Given the description of an element on the screen output the (x, y) to click on. 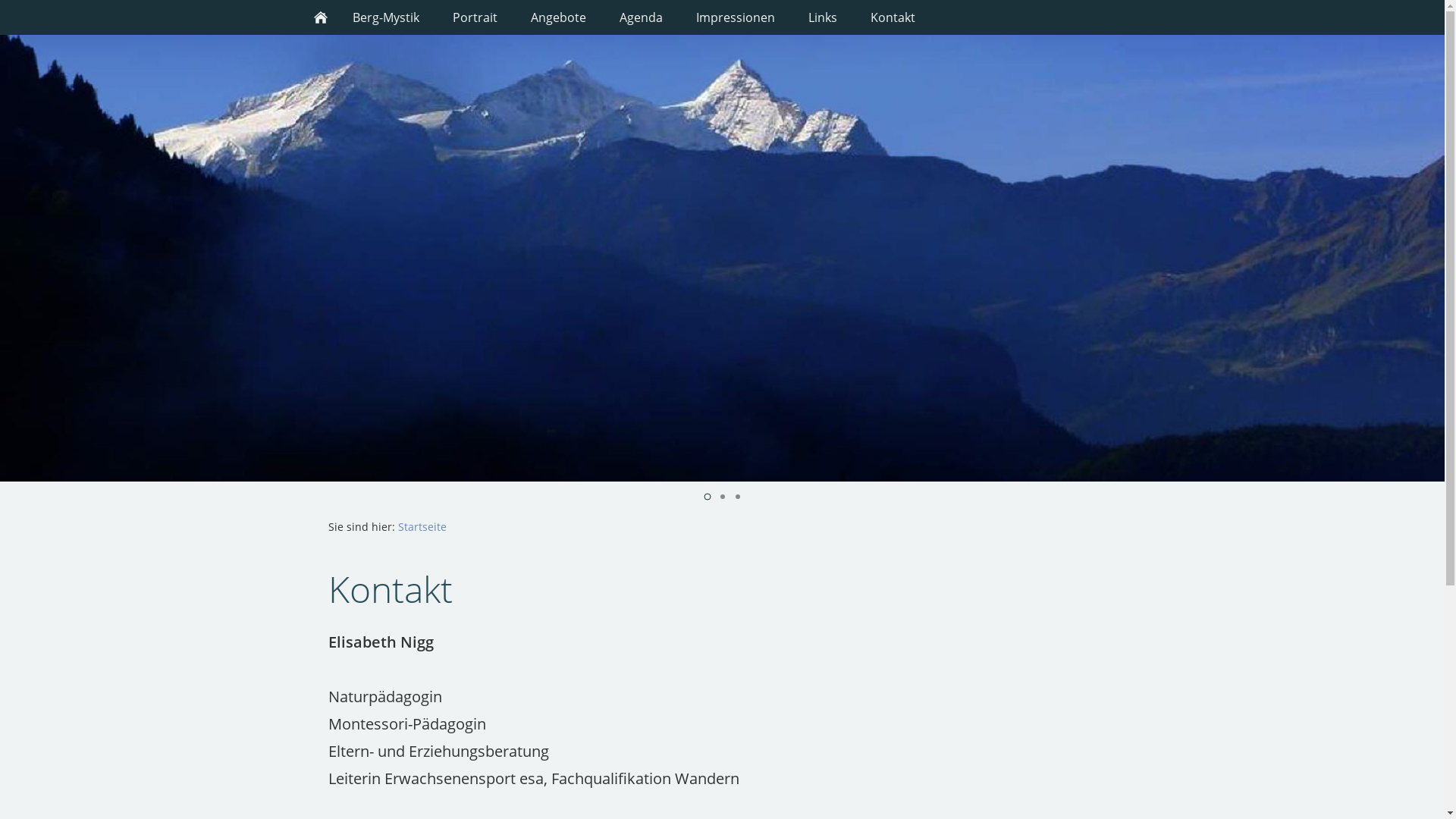
Impressionen Element type: text (735, 17)
Angebote Element type: text (558, 17)
Berg-Mystik Element type: text (385, 17)
Startseite Element type: text (421, 526)
Portrait Element type: text (474, 17)
Kontakt Element type: text (892, 17)
Links Element type: text (822, 17)
Agenda Element type: text (640, 17)
